Given the description of an element on the screen output the (x, y) to click on. 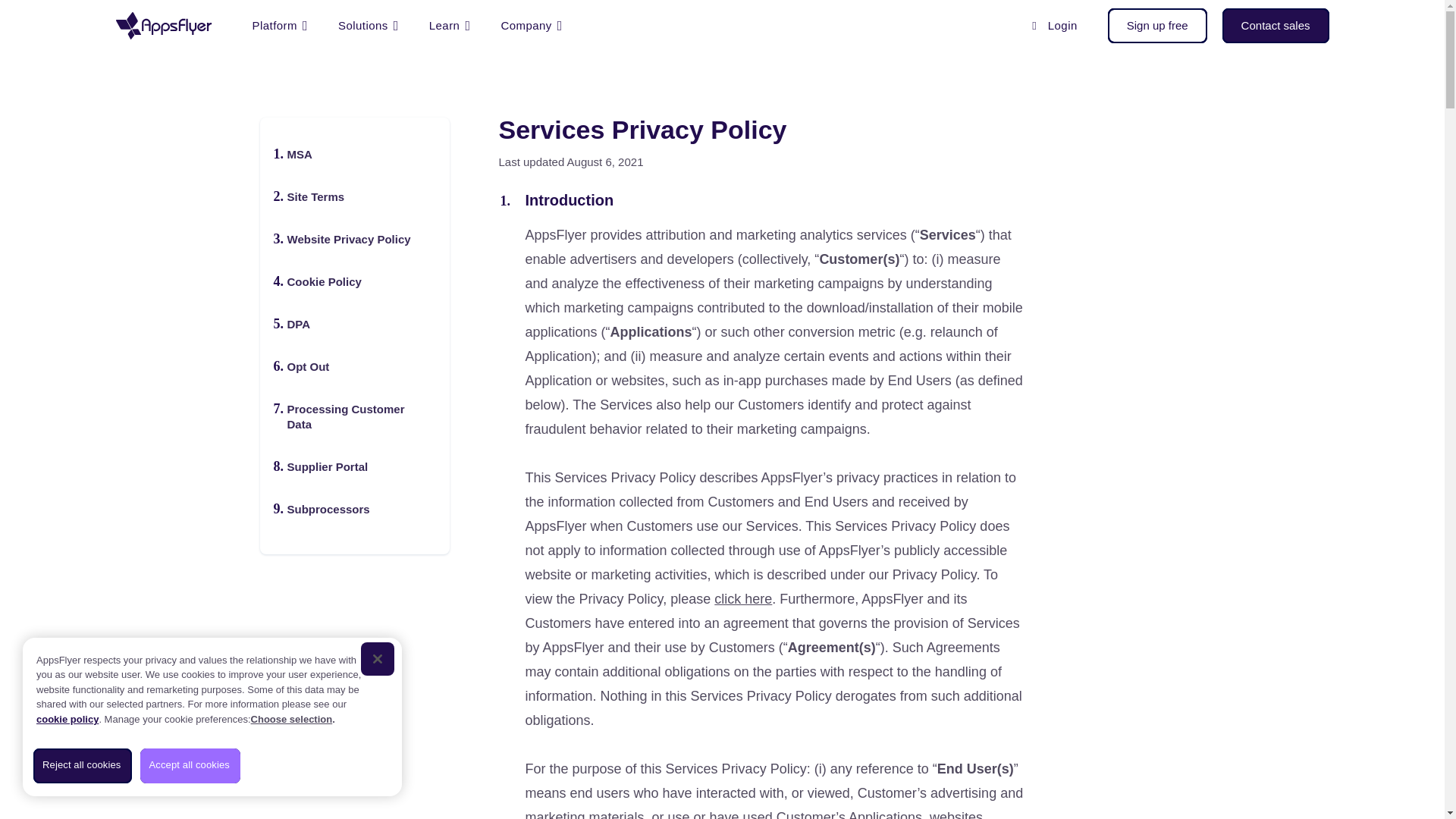
Platform (278, 25)
Platform (278, 25)
Solutions (368, 25)
Solutions (368, 25)
